Given the description of an element on the screen output the (x, y) to click on. 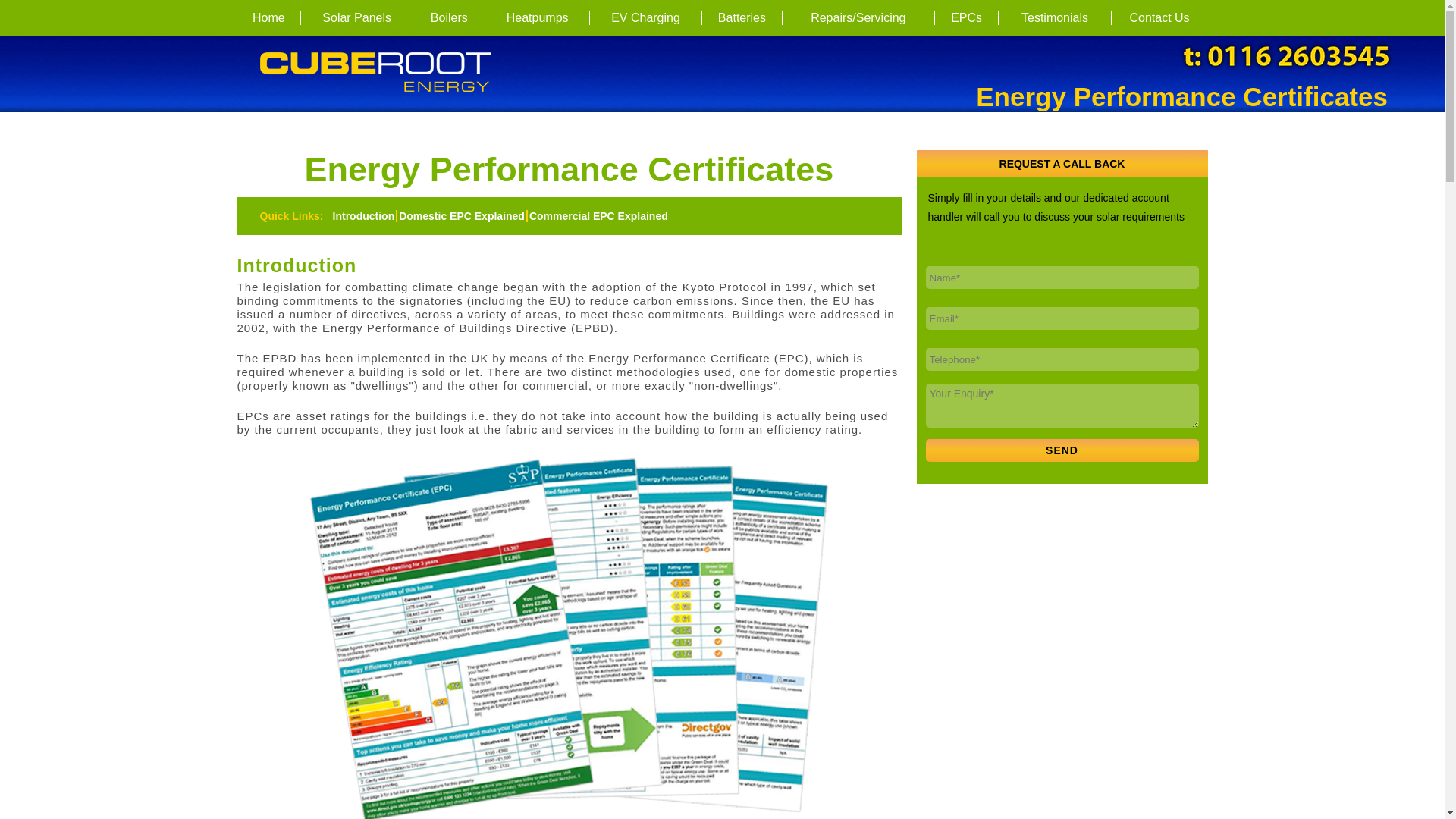
EV Charging (645, 18)
EPCs (966, 18)
Batteries (742, 18)
Send (1061, 449)
Home (268, 18)
Send (1061, 449)
Heatpumps (536, 18)
Domestic EPC Explained (462, 215)
Testimonials (1054, 18)
Contact Us (1160, 18)
Boilers (448, 18)
Commercial EPC Explained (598, 215)
Solar Panels (357, 18)
Introduction (364, 215)
